Given the description of an element on the screen output the (x, y) to click on. 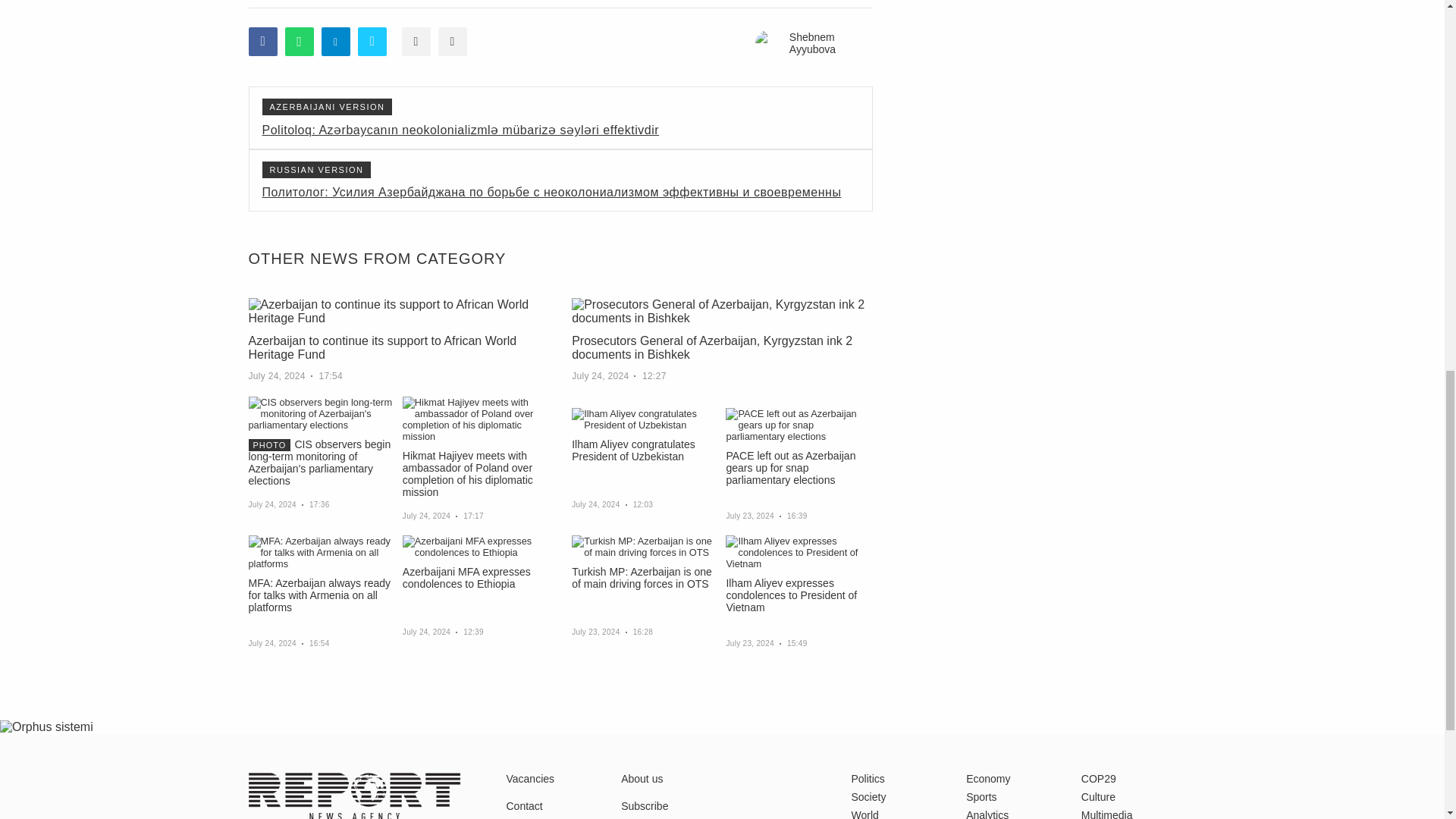
undefined (46, 725)
Azerbaijani MFA expresses condolences to Ethiopia (475, 546)
